Given the description of an element on the screen output the (x, y) to click on. 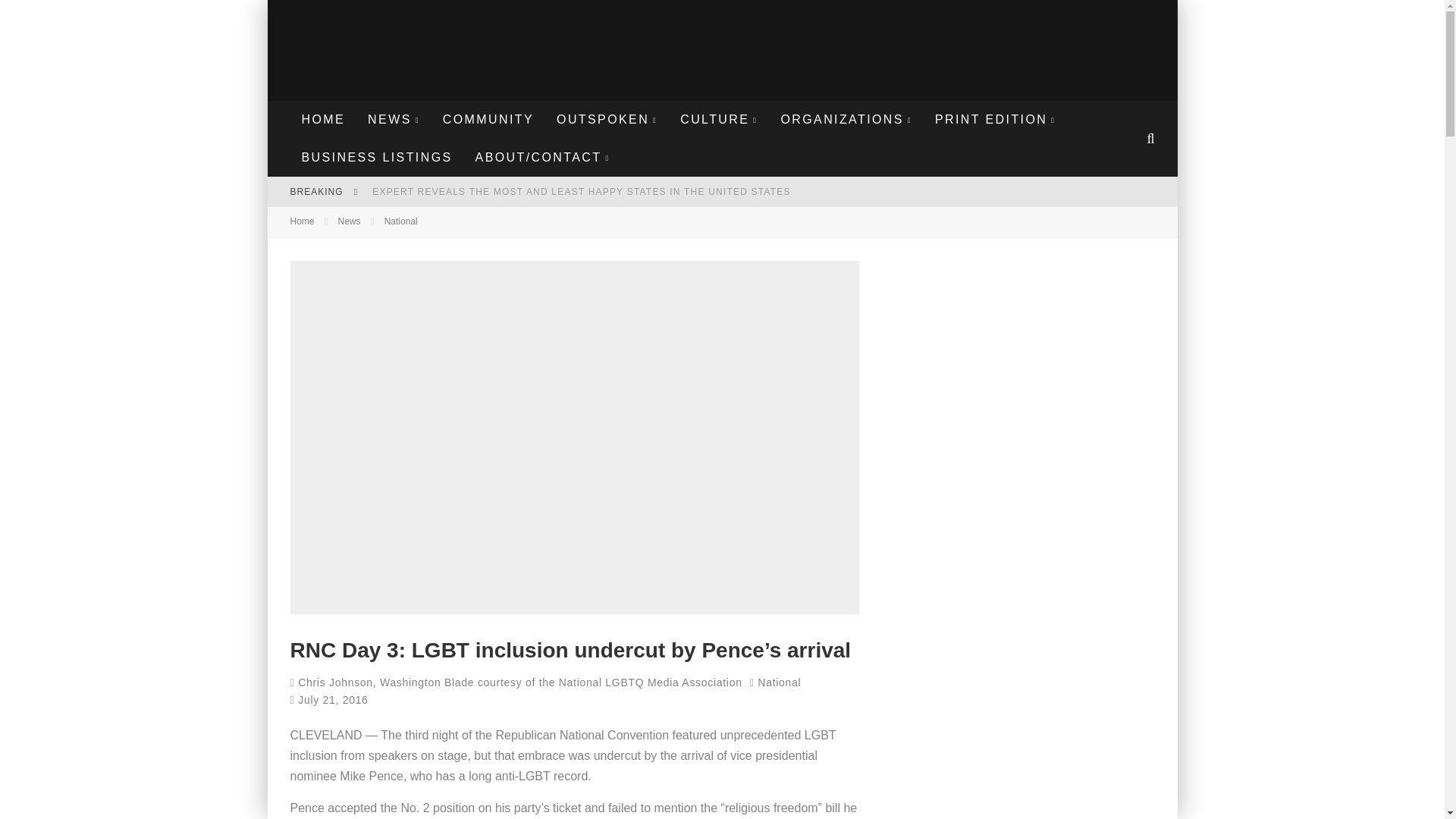
CULTURE (718, 119)
COMMUNITY (487, 119)
HOME (322, 119)
NEWS (393, 119)
OUTSPOKEN (606, 119)
